Given the description of an element on the screen output the (x, y) to click on. 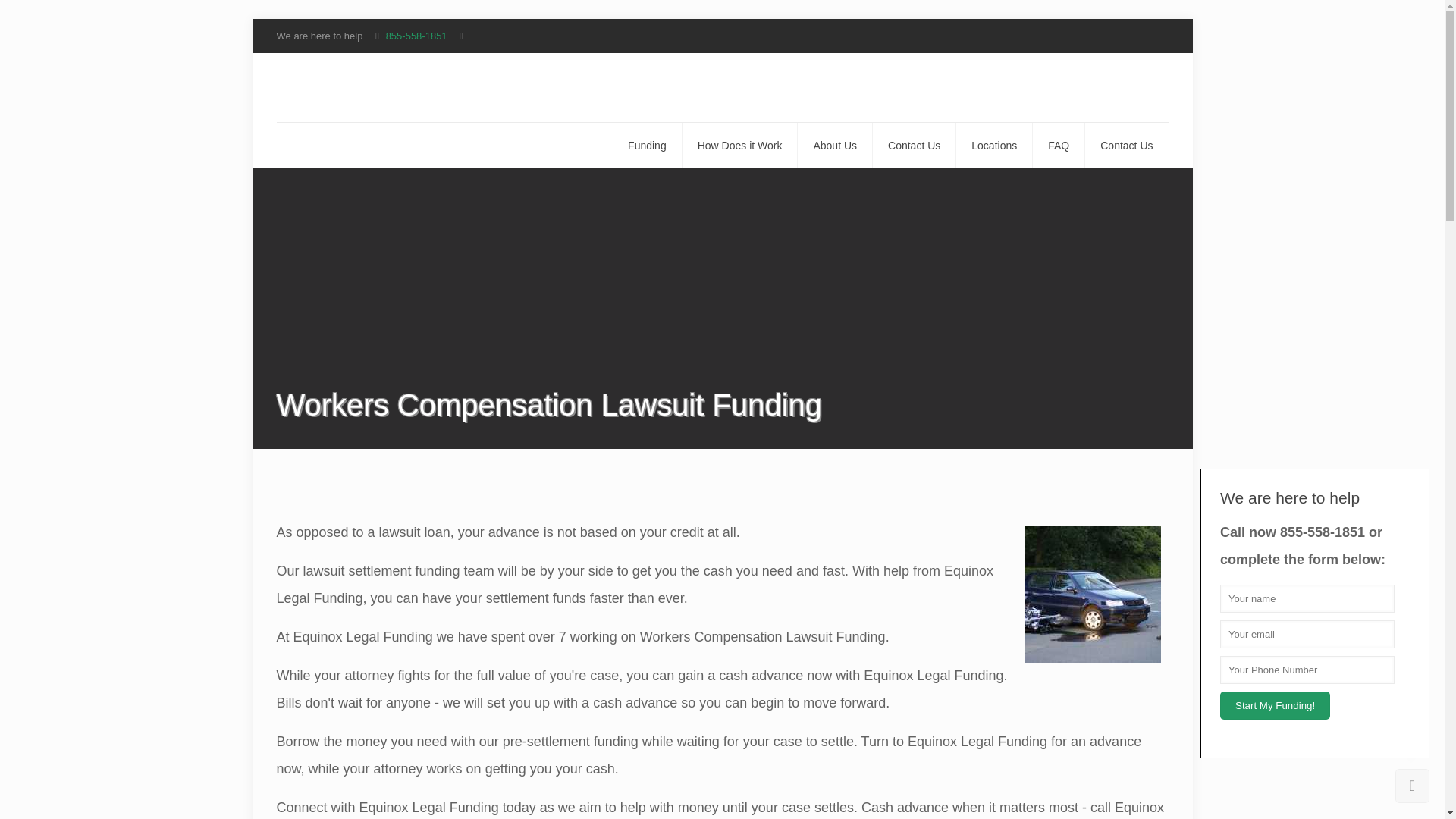
Workers Compensation Lawsuit Funding (366, 87)
Contact Us (914, 145)
Start My Funding! (1275, 705)
Funding (647, 145)
Workers Compensation Lawsuit Funding Equinox Legal Funding (1091, 594)
Locations (994, 145)
855-558-1851 (415, 35)
FAQ (1058, 145)
Contact Us (1125, 145)
How Does it Work (739, 145)
About Us (834, 145)
